Given the description of an element on the screen output the (x, y) to click on. 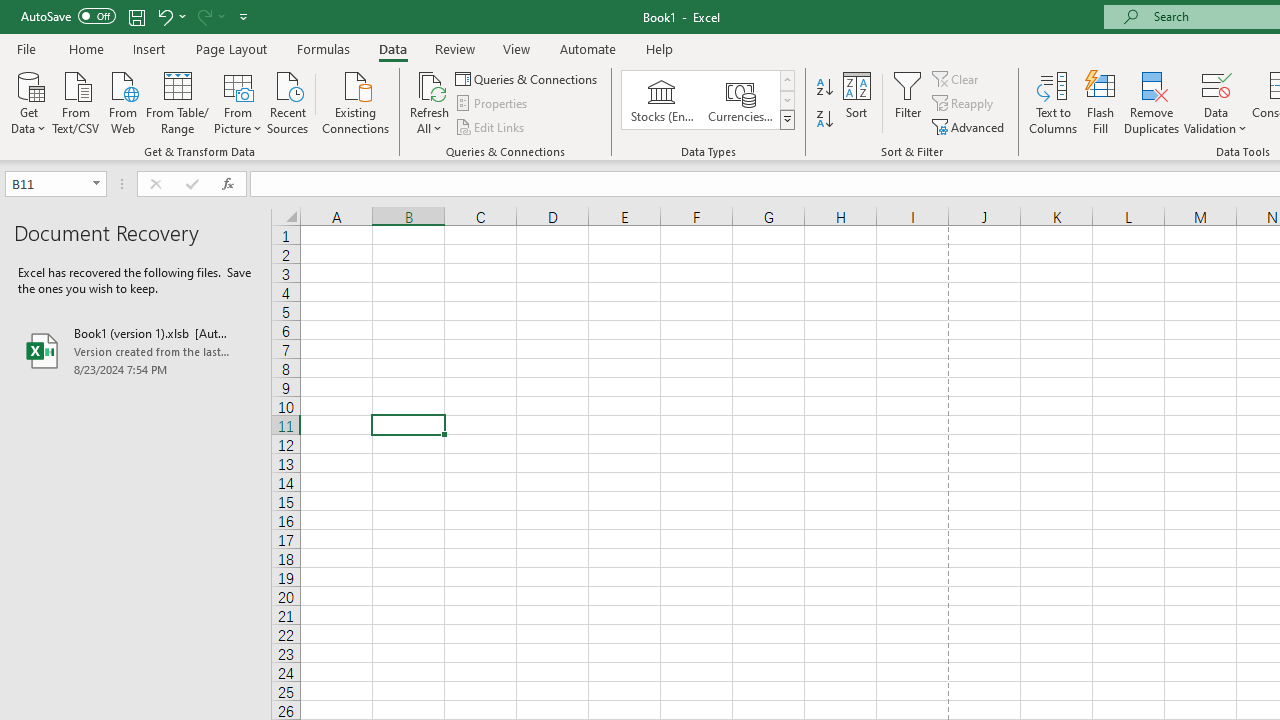
From Picture (238, 101)
